Given the description of an element on the screen output the (x, y) to click on. 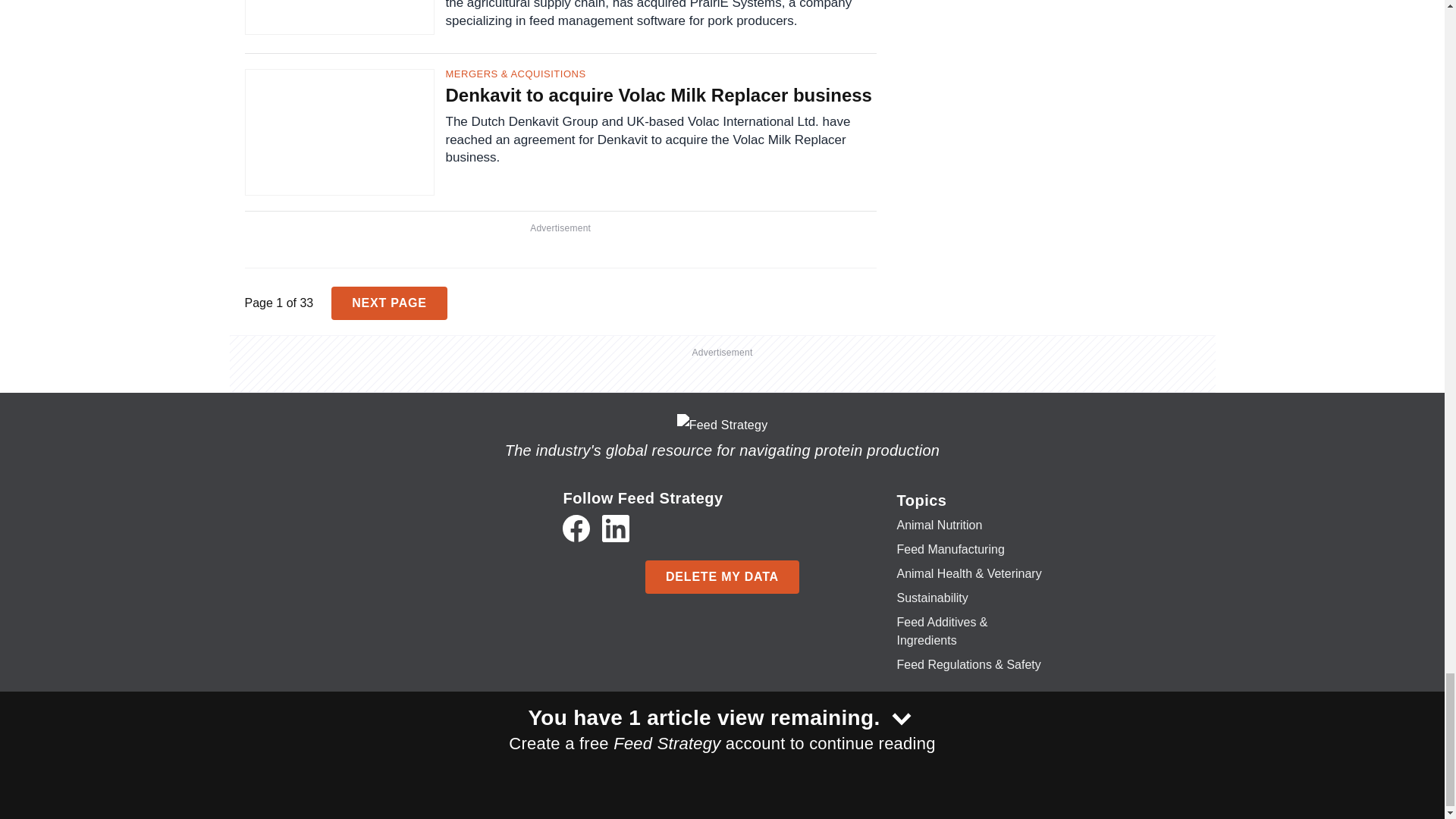
LinkedIn icon (615, 528)
Facebook icon (575, 528)
